Given the description of an element on the screen output the (x, y) to click on. 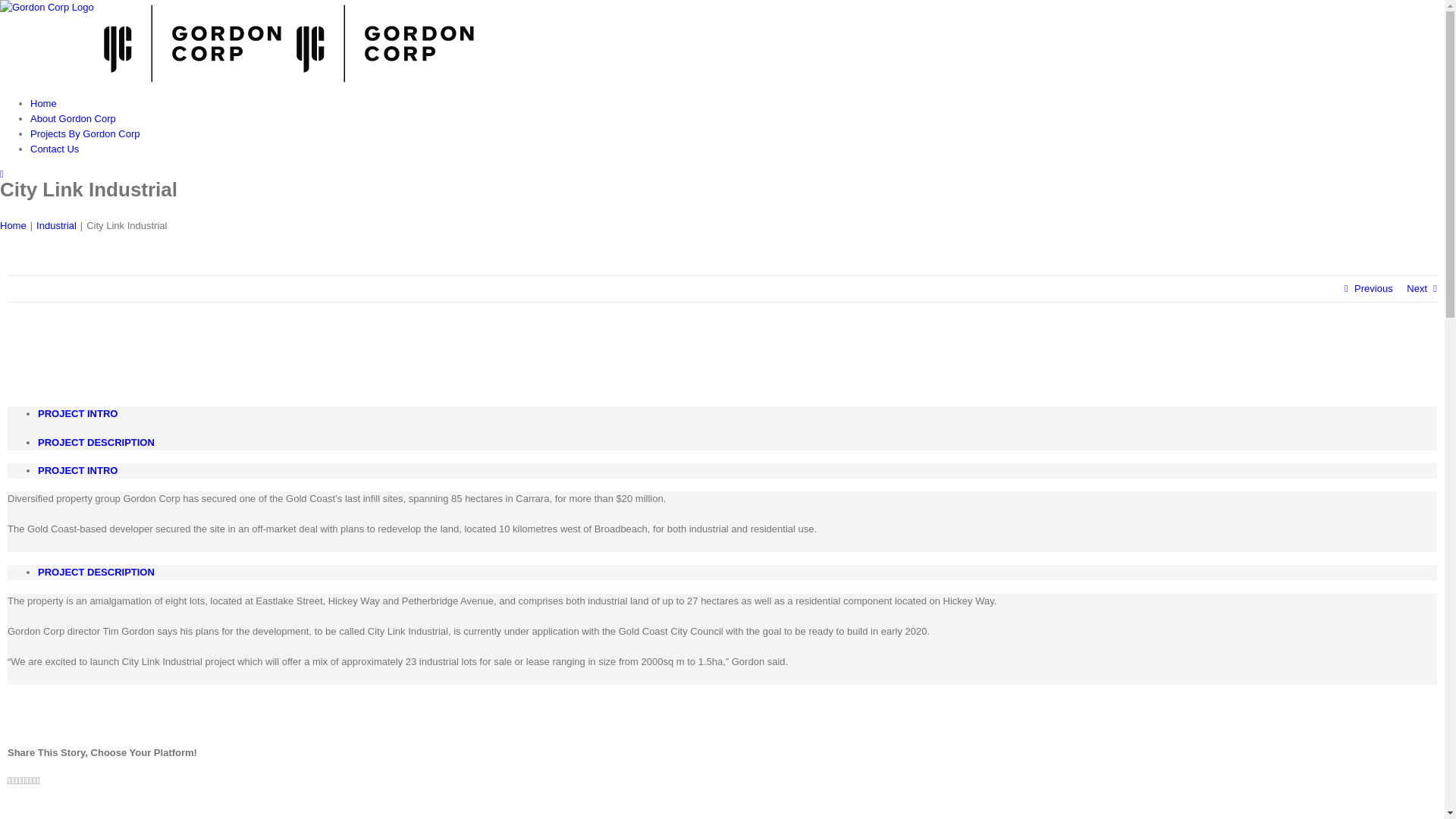
PROJECT INTRO Element type: text (737, 413)
Home Element type: text (43, 103)
Reddit Element type: text (19, 780)
Twitter Element type: text (13, 780)
Projects By Gordon Corp Element type: text (85, 133)
Previous Element type: text (1373, 288)
Vk Element type: text (34, 780)
Tumblr Element type: text (27, 780)
PROJECT INTRO Element type: text (737, 470)
Industrial Element type: text (56, 225)
Facebook Element type: text (9, 780)
Home Element type: text (13, 225)
PROJECT DESCRIPTION Element type: text (737, 572)
Email Element type: text (38, 780)
PROJECT DESCRIPTION Element type: text (737, 442)
LinkedIn Element type: text (16, 780)
About Gordon Corp Element type: text (73, 118)
Contact Us Element type: text (54, 148)
Pinterest Element type: text (30, 780)
Next Element type: text (1416, 288)
WhatsApp Element type: text (23, 780)
